Given the description of an element on the screen output the (x, y) to click on. 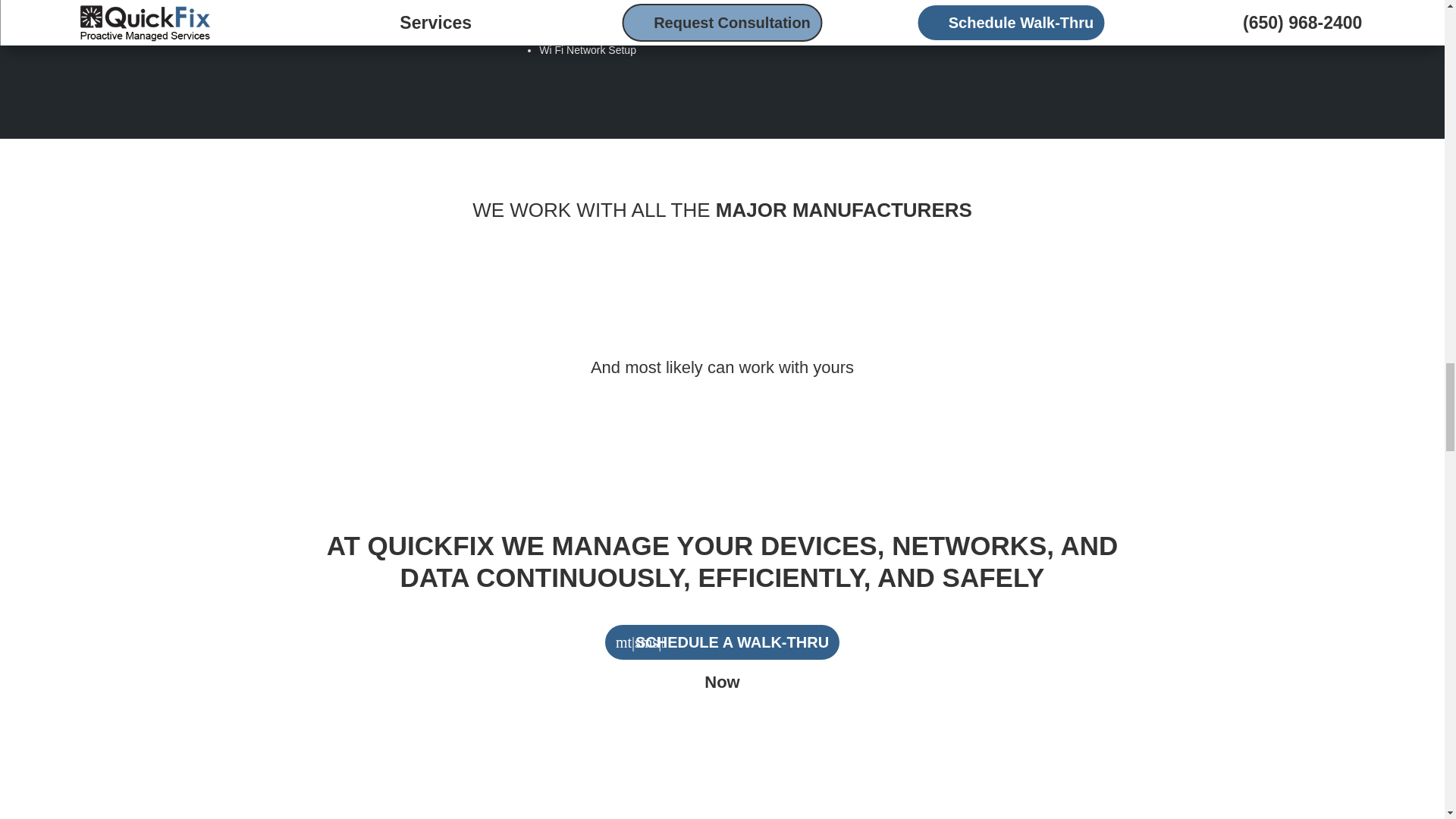
SCHEDULE A WALK-THRU (722, 641)
San Bruno Managed Network Services (598, 21)
